Given the description of an element on the screen output the (x, y) to click on. 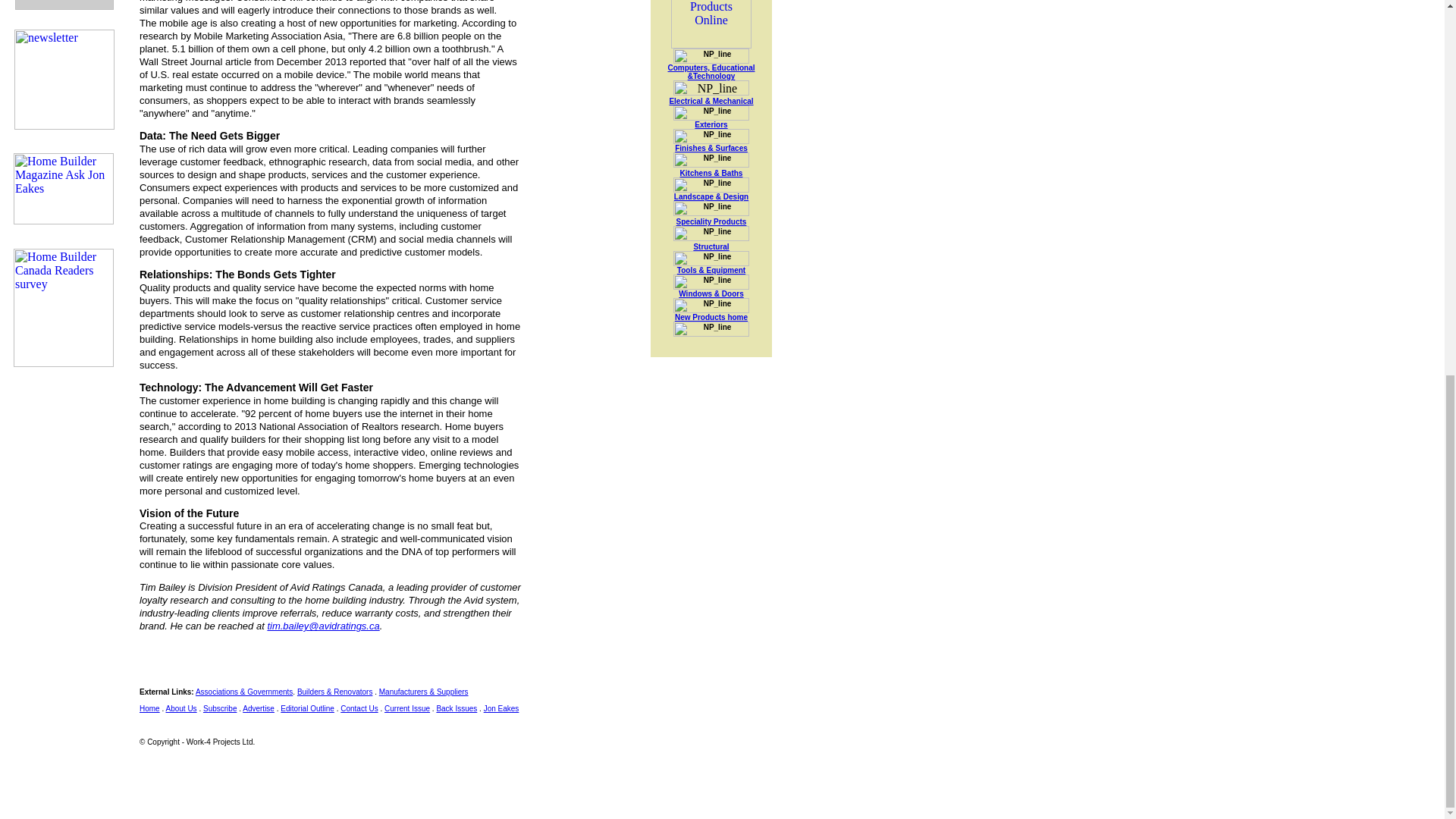
Editorial Outline (307, 708)
New Products home (711, 316)
Structural (711, 246)
Exteriors (710, 124)
Contact Us (358, 708)
Subscribe (219, 708)
Home (149, 708)
About Us (180, 708)
Back Issues (456, 708)
Jon Eakes (501, 708)
